Given the description of an element on the screen output the (x, y) to click on. 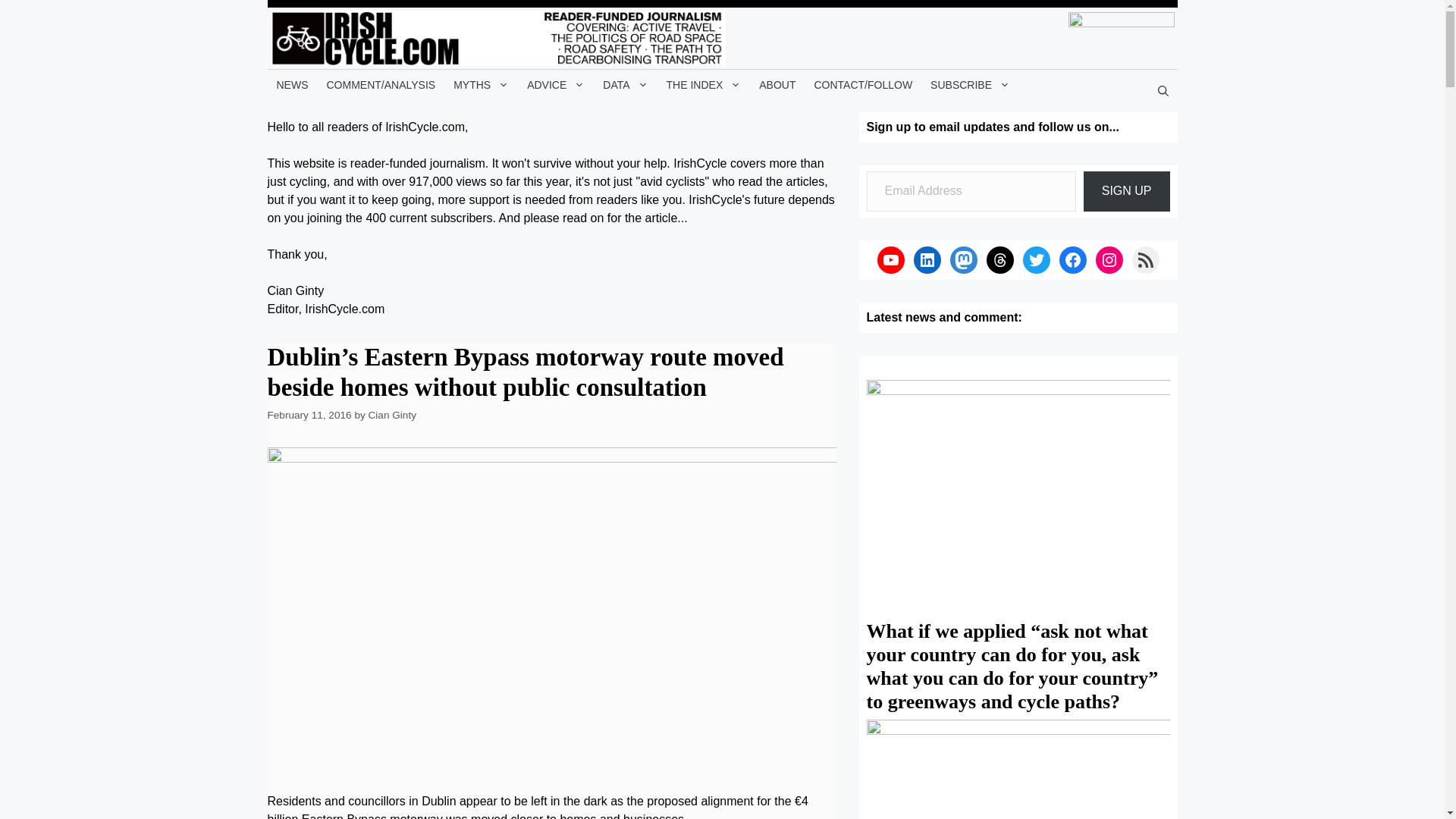
MYTHS (481, 84)
more support is needed from readers like you. (561, 199)
THE INDEX (704, 84)
DATA (625, 84)
Cian Ginty (392, 414)
ABOUT (777, 84)
SUBSCRIBE (970, 84)
Please fill in this field. (970, 191)
NEWS (291, 84)
ADVICE (556, 84)
View all posts by Cian Ginty (392, 414)
